Given the description of an element on the screen output the (x, y) to click on. 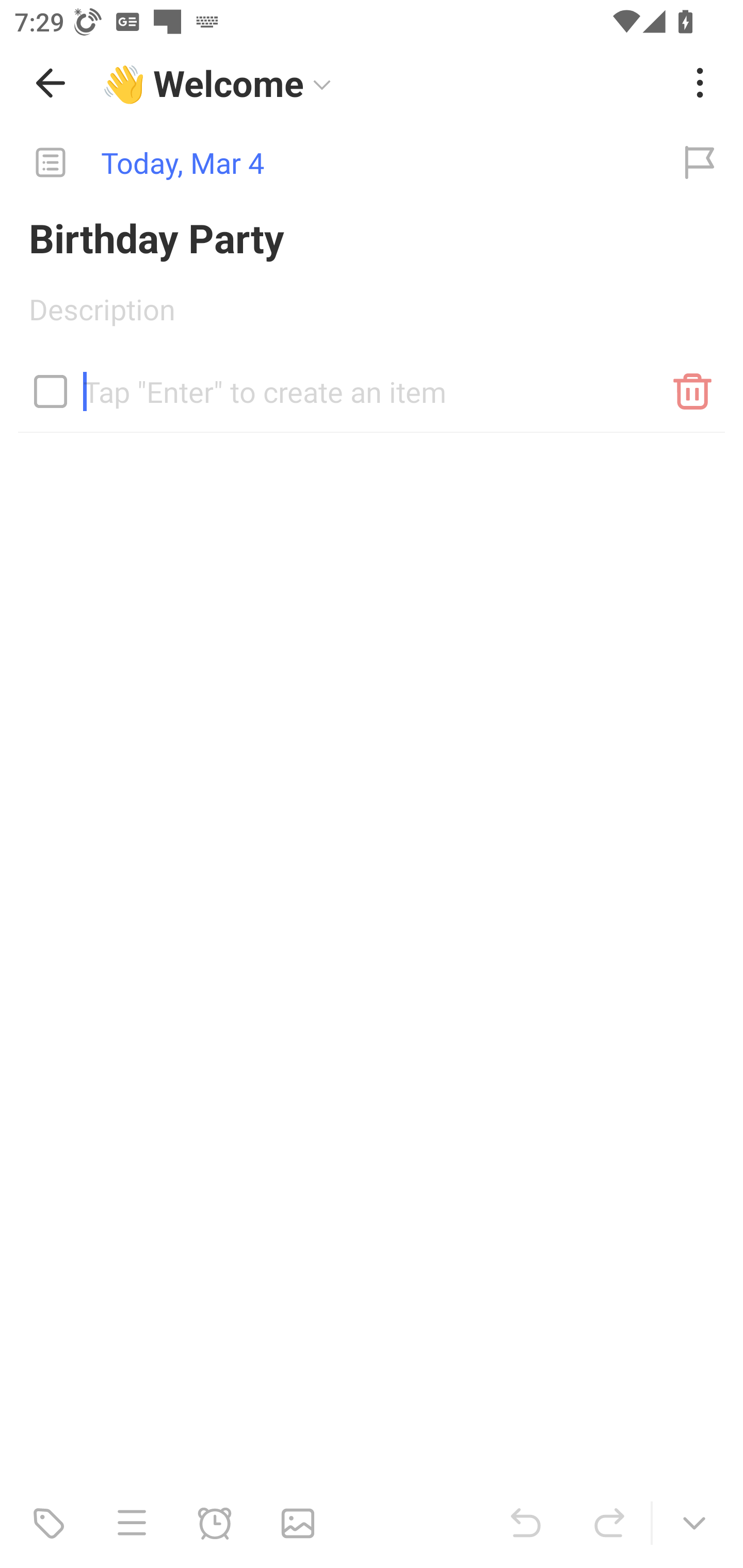
👋 Welcome (384, 82)
Today, Mar 4  (328, 163)
Birthday Party (371, 237)
Description (371, 315)
  (50, 390)
Tap "Enter" to create an item (371, 383)
